Given the description of an element on the screen output the (x, y) to click on. 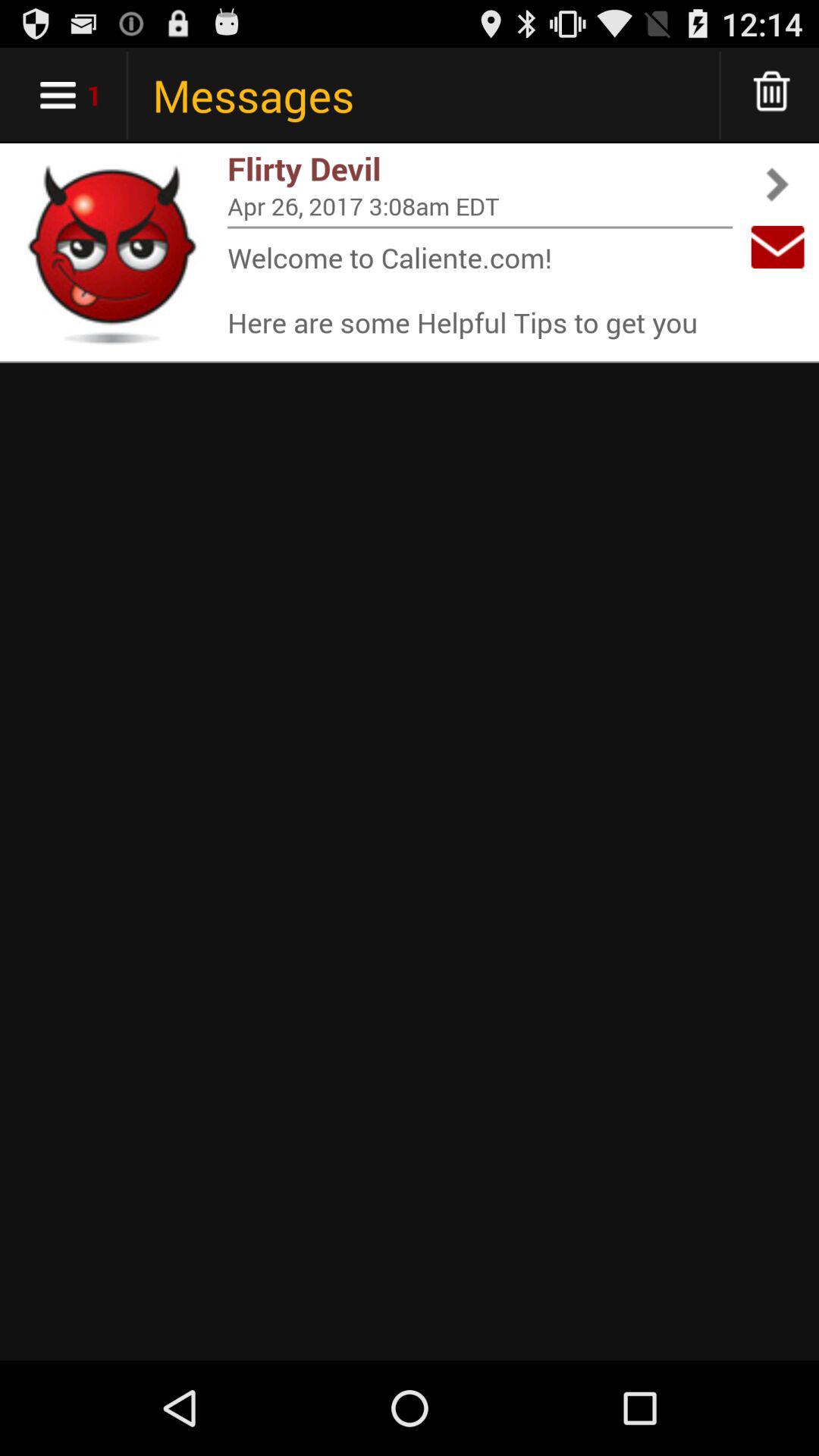
press icon above flirty devil app (772, 95)
